Given the description of an element on the screen output the (x, y) to click on. 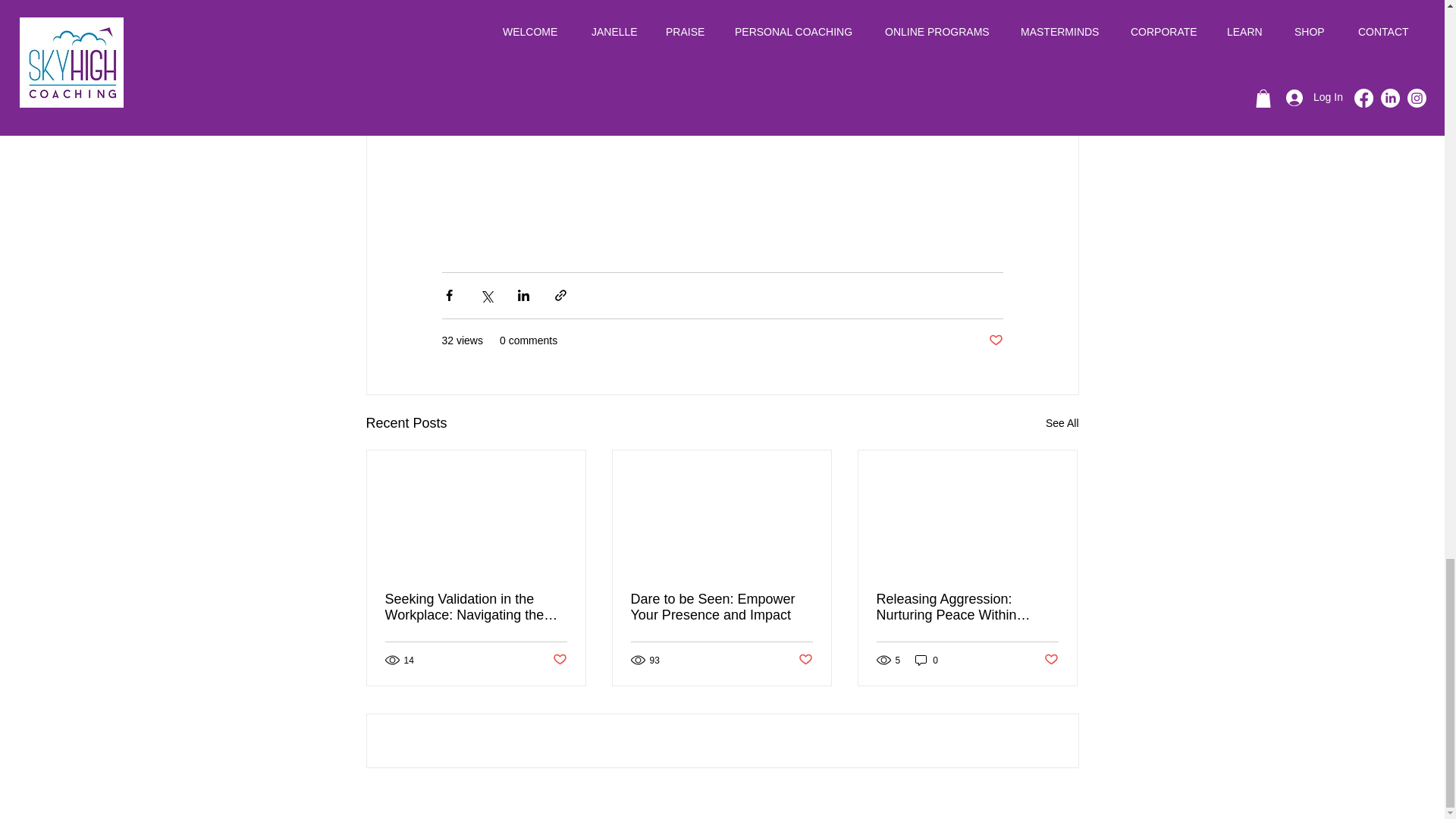
See All (1061, 423)
Post not marked as liked (995, 340)
Dare to be Seen: Empower Your Presence and Impact (721, 607)
0 (926, 659)
Post not marked as liked (1050, 659)
Post not marked as liked (804, 659)
Post not marked as liked (558, 659)
